Given the description of an element on the screen output the (x, y) to click on. 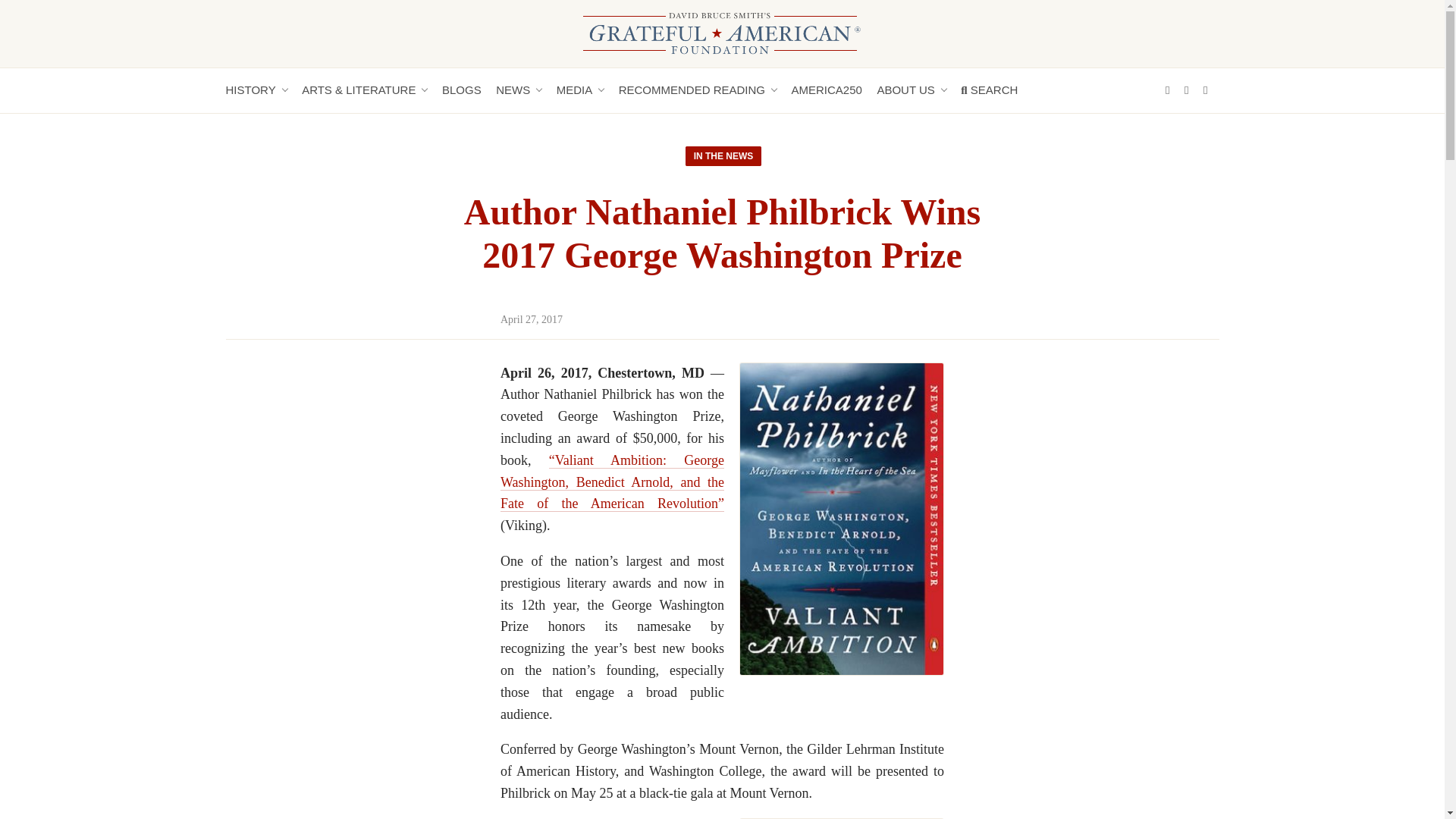
ABOUT US (910, 90)
HISTORY (255, 90)
SEARCH (994, 90)
NEWS (518, 90)
MEDIA (580, 90)
AMERICA250 (832, 90)
BLOGS (467, 90)
RECOMMENDED READING (697, 90)
